Given the description of an element on the screen output the (x, y) to click on. 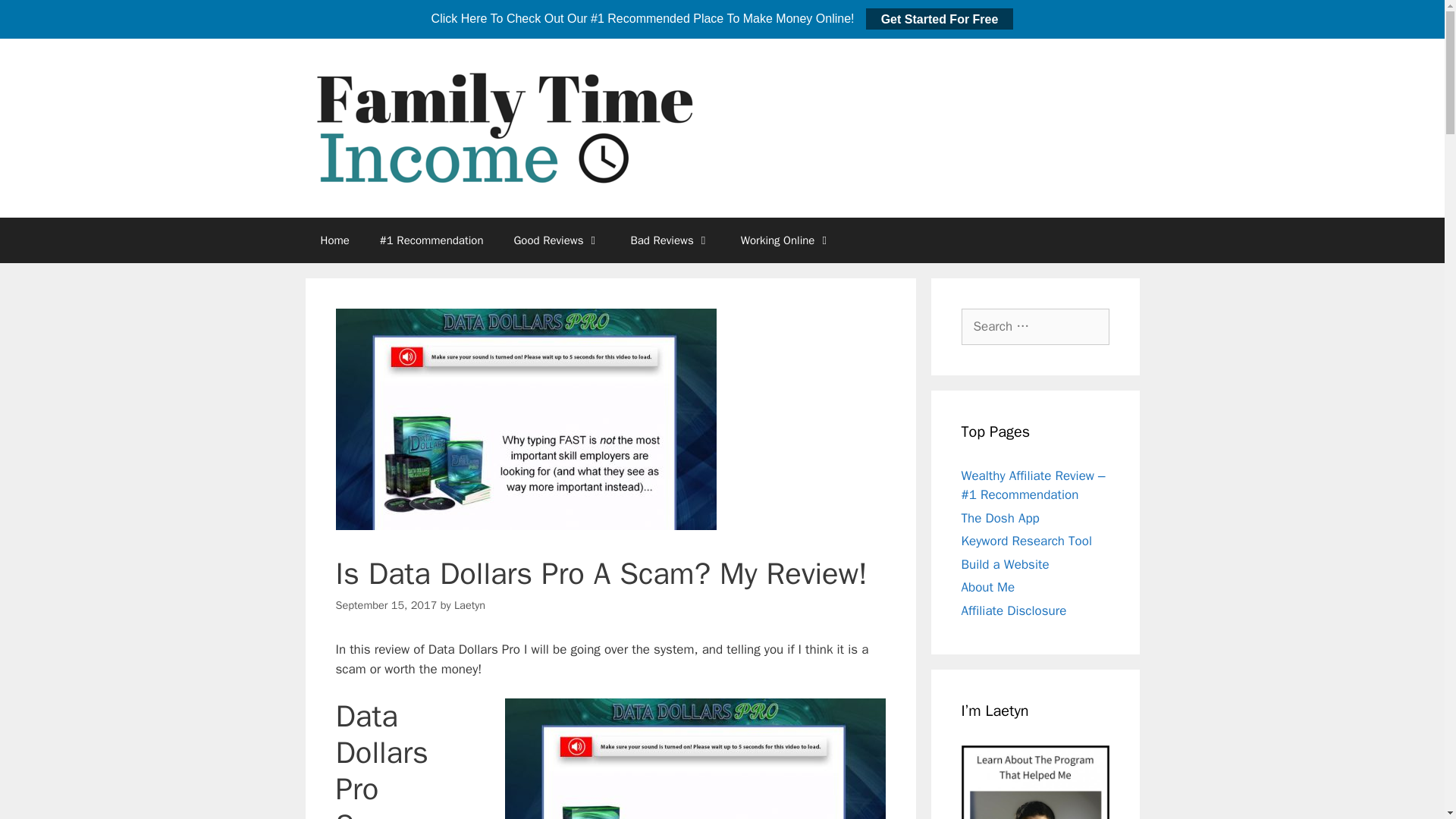
7:50 pm (385, 604)
Home (334, 239)
Family Time Income (601, 127)
Laetyn (469, 604)
Get Started For Free (939, 18)
Good Reviews (555, 239)
Search for: (1034, 326)
Bad Reviews (669, 239)
Working Online (786, 239)
Family Time Income (601, 127)
September 15, 2017 (385, 604)
View all posts by Laetyn (469, 604)
